Given the description of an element on the screen output the (x, y) to click on. 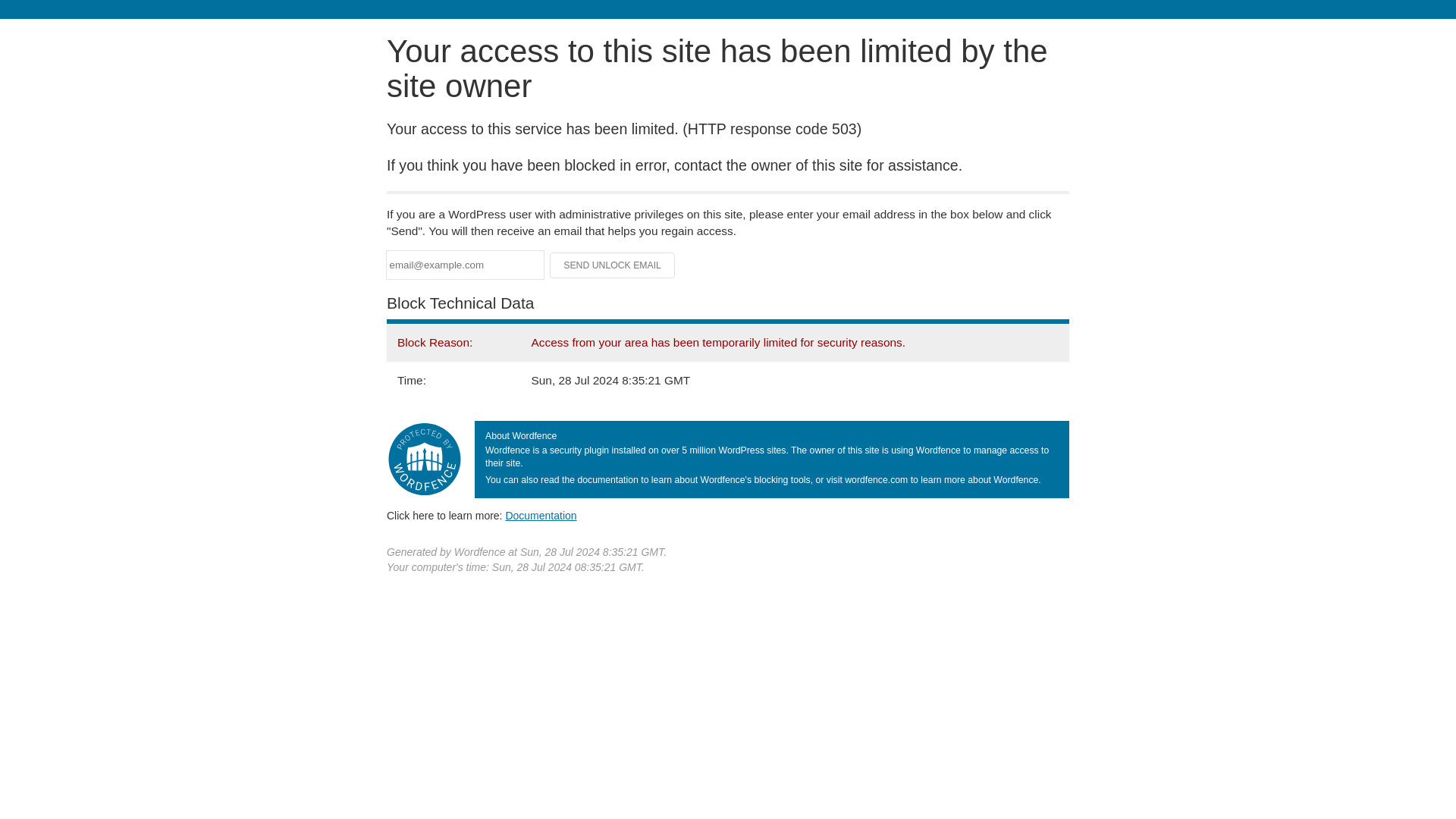
Send Unlock Email (612, 265)
Documentation (540, 515)
Send Unlock Email (612, 265)
